Given the description of an element on the screen output the (x, y) to click on. 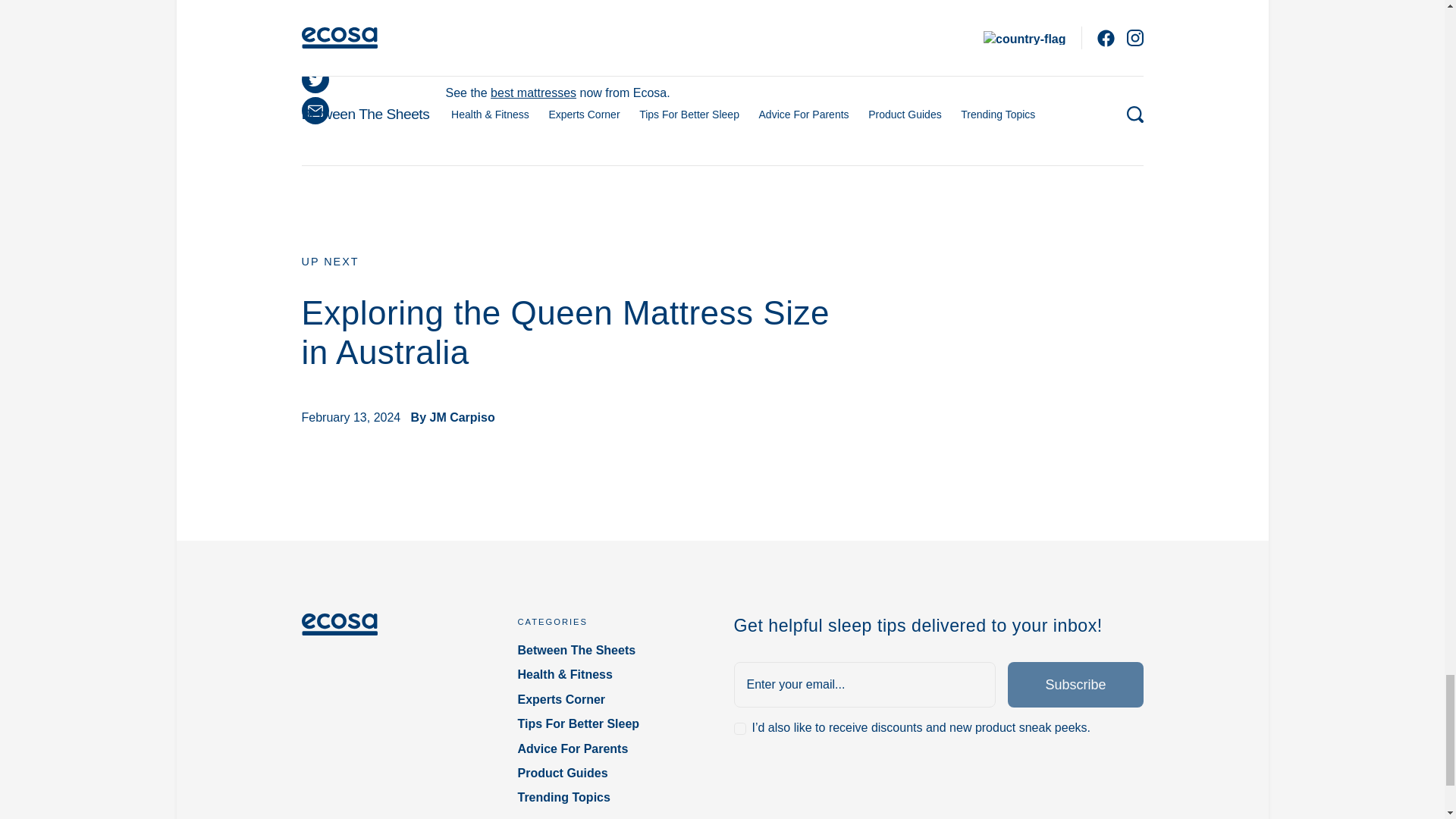
Subscribe (1074, 684)
Tips For Better Sleep (613, 723)
Advice For Parents (613, 749)
Subscribe (1074, 684)
Trending Topics (613, 797)
Between The Sheets (613, 650)
best mattresses (533, 92)
Product Guides (613, 773)
Experts Corner (613, 699)
